Given the description of an element on the screen output the (x, y) to click on. 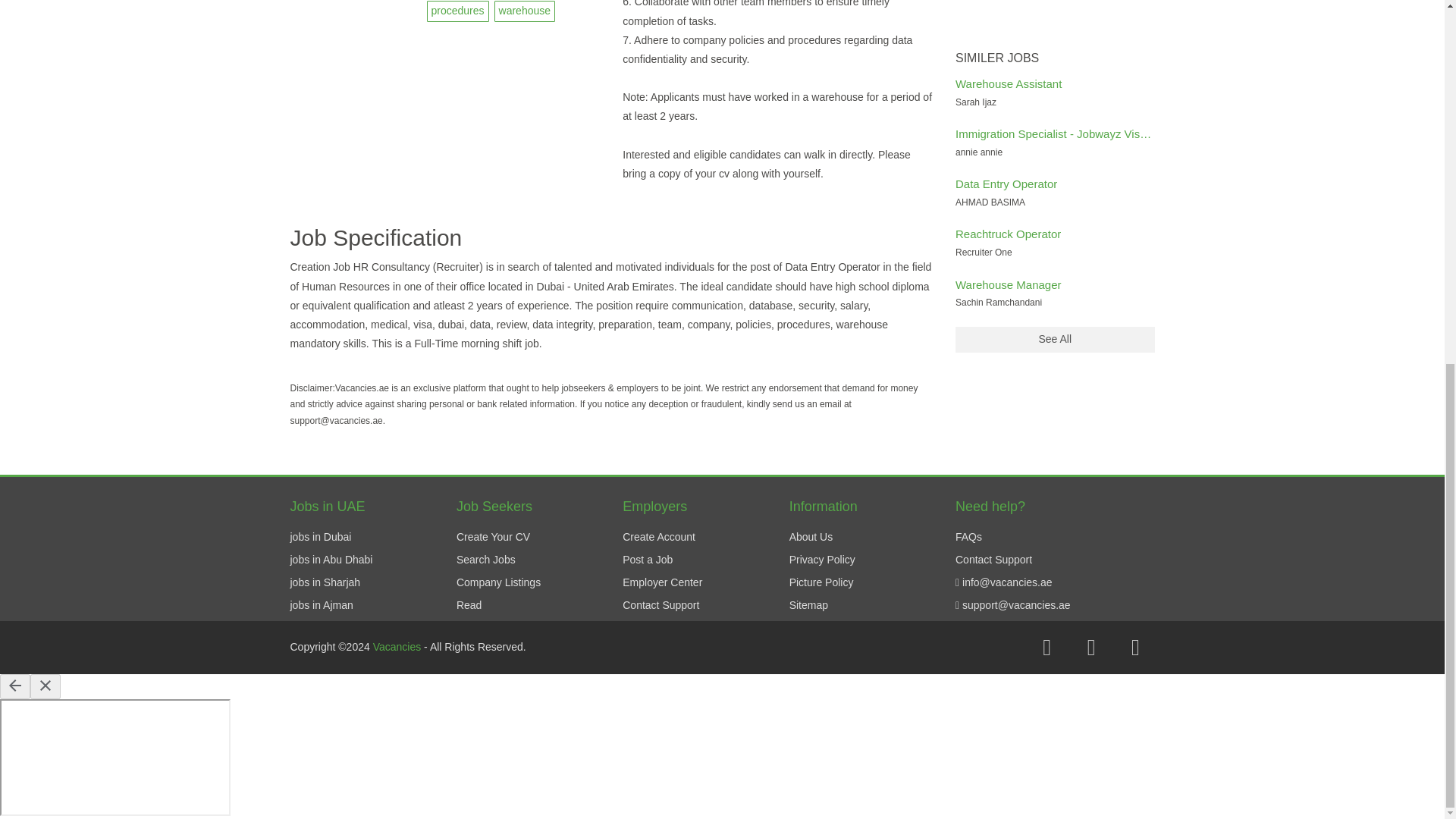
Reachtruck Operator (1008, 233)
jobs in Dubai (319, 536)
Company Listings (498, 582)
Search Jobs (486, 559)
Warehouse Assistant (1008, 83)
Follow vacancies on Twitter (1090, 647)
Follow vacancies on Linkedin (1135, 647)
jobs in Abu Dhabi (330, 559)
jobs in Ajman (320, 604)
Advertisement (1054, 22)
Warehouse Manager (1008, 284)
Read (469, 604)
Create Your CV (493, 536)
Follow vacancies on Facebook (1046, 647)
SIMILER JOBS (1054, 58)
